Given the description of an element on the screen output the (x, y) to click on. 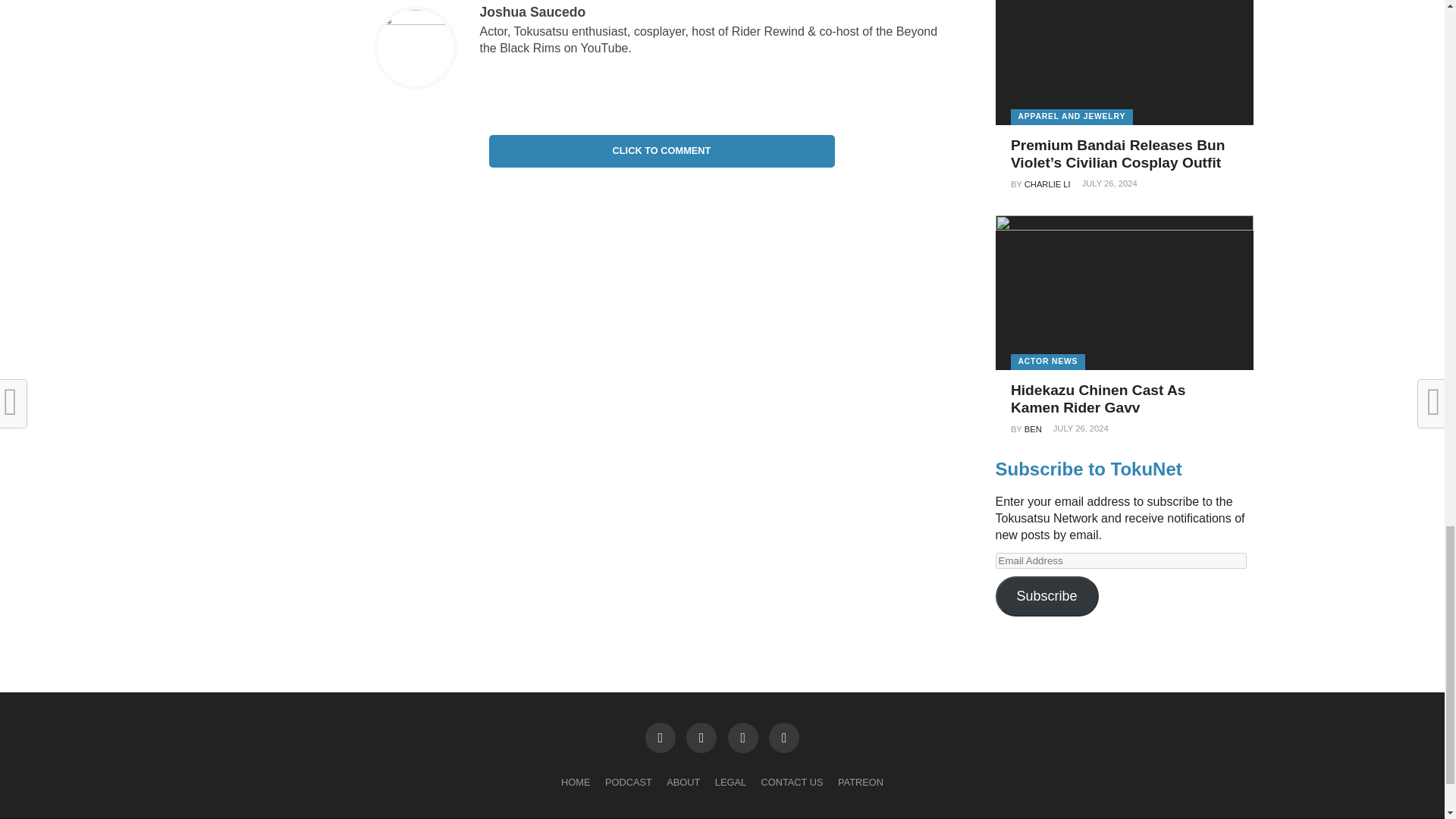
Posts by Joshua Saucedo (532, 11)
